Given the description of an element on the screen output the (x, y) to click on. 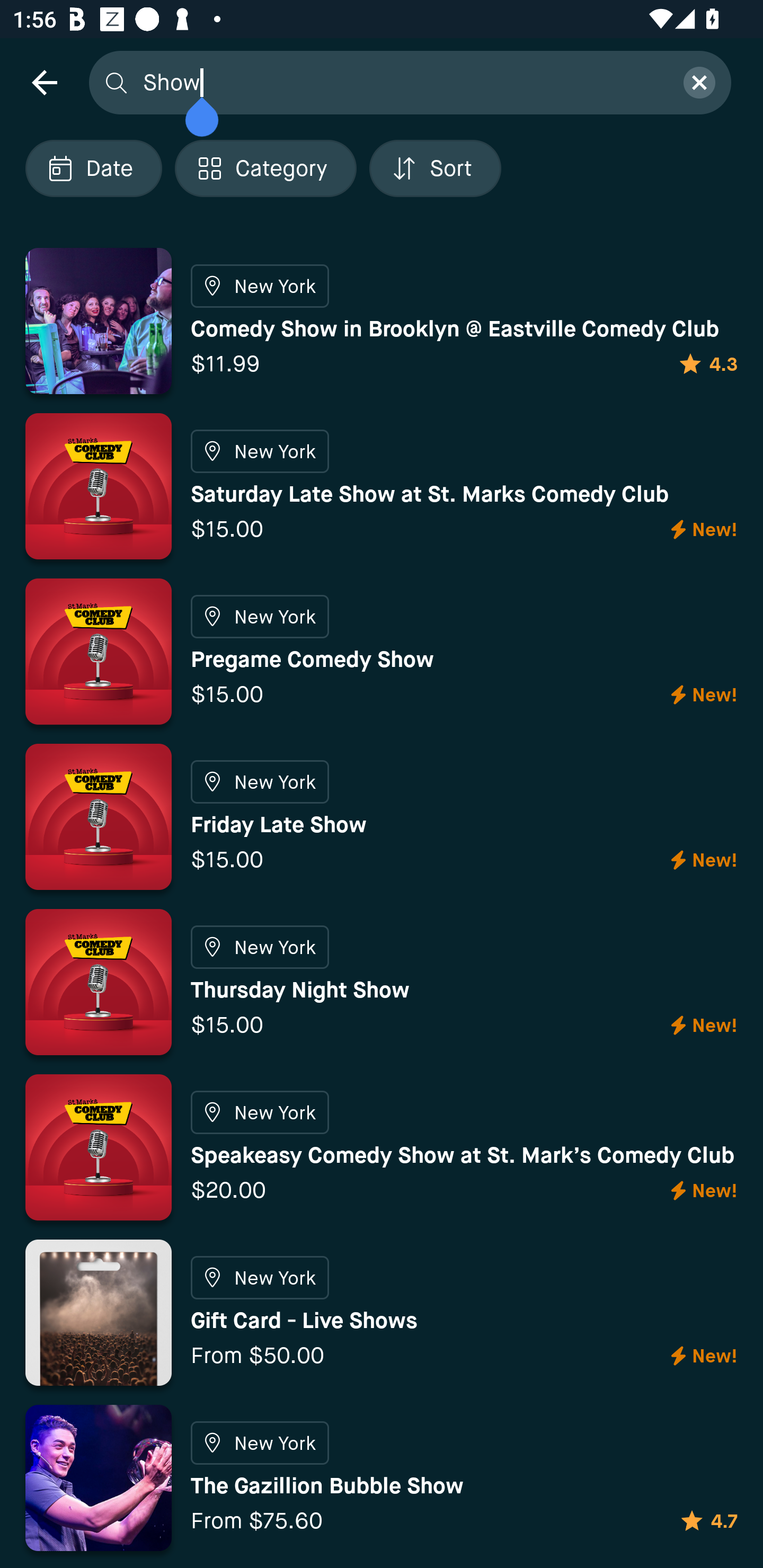
navigation icon (44, 81)
Show (402, 81)
Localized description Date (93, 168)
Localized description Category (265, 168)
Localized description Sort (435, 168)
